Given the description of an element on the screen output the (x, y) to click on. 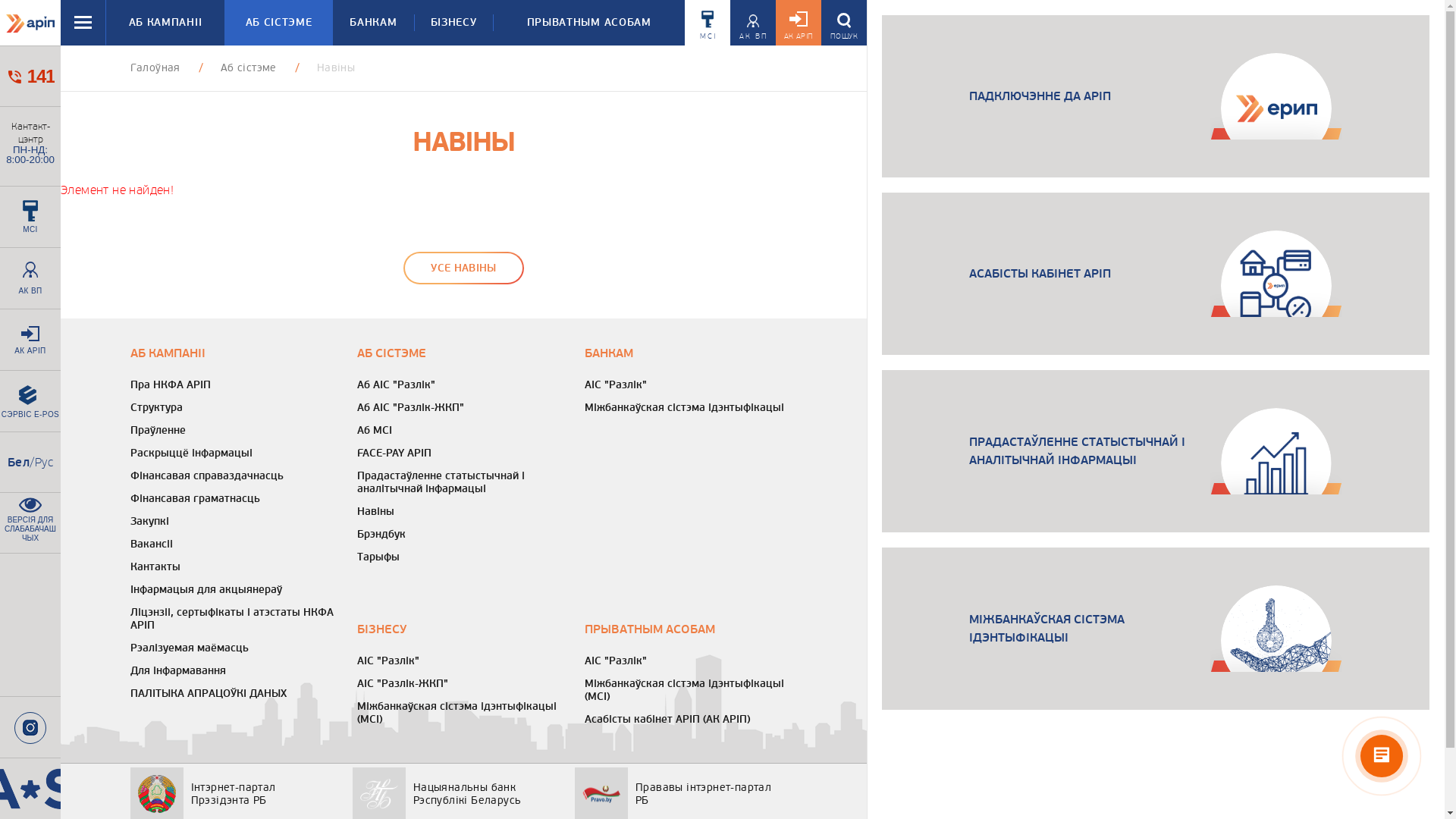
141 Element type: text (30, 76)
